Given the description of an element on the screen output the (x, y) to click on. 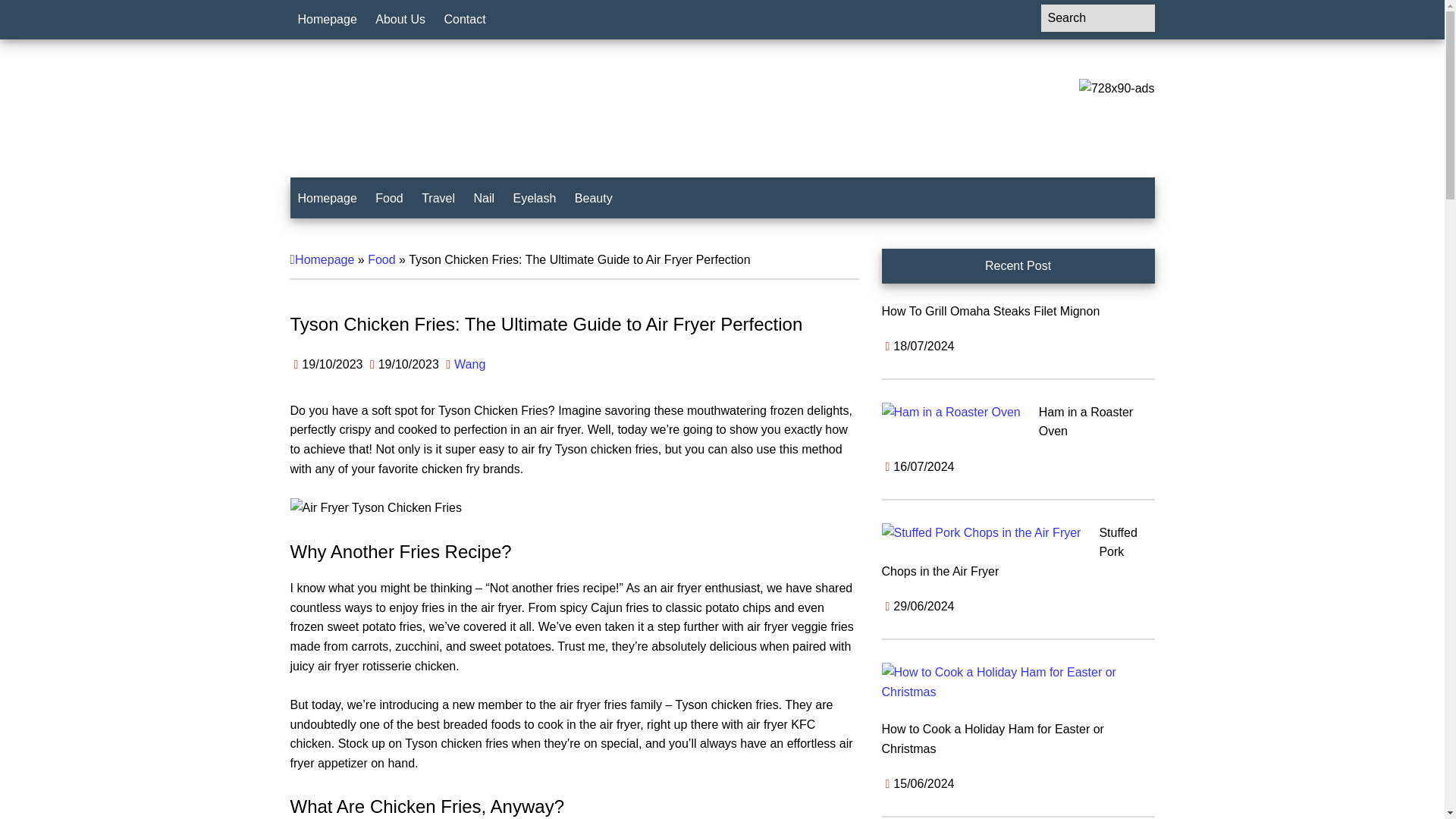
Contact (464, 19)
Food (389, 198)
Travel (438, 198)
Homepage (326, 19)
How To Grill Omaha Steaks Filet Mignon (989, 310)
Beauty (593, 198)
Nail (483, 198)
Homepage (326, 198)
About Us (400, 19)
Food (381, 259)
Ham in a Roaster Oven (1086, 421)
Ekilove (392, 112)
Eyelash (534, 198)
Homepage (324, 259)
Wang (469, 364)
